Given the description of an element on the screen output the (x, y) to click on. 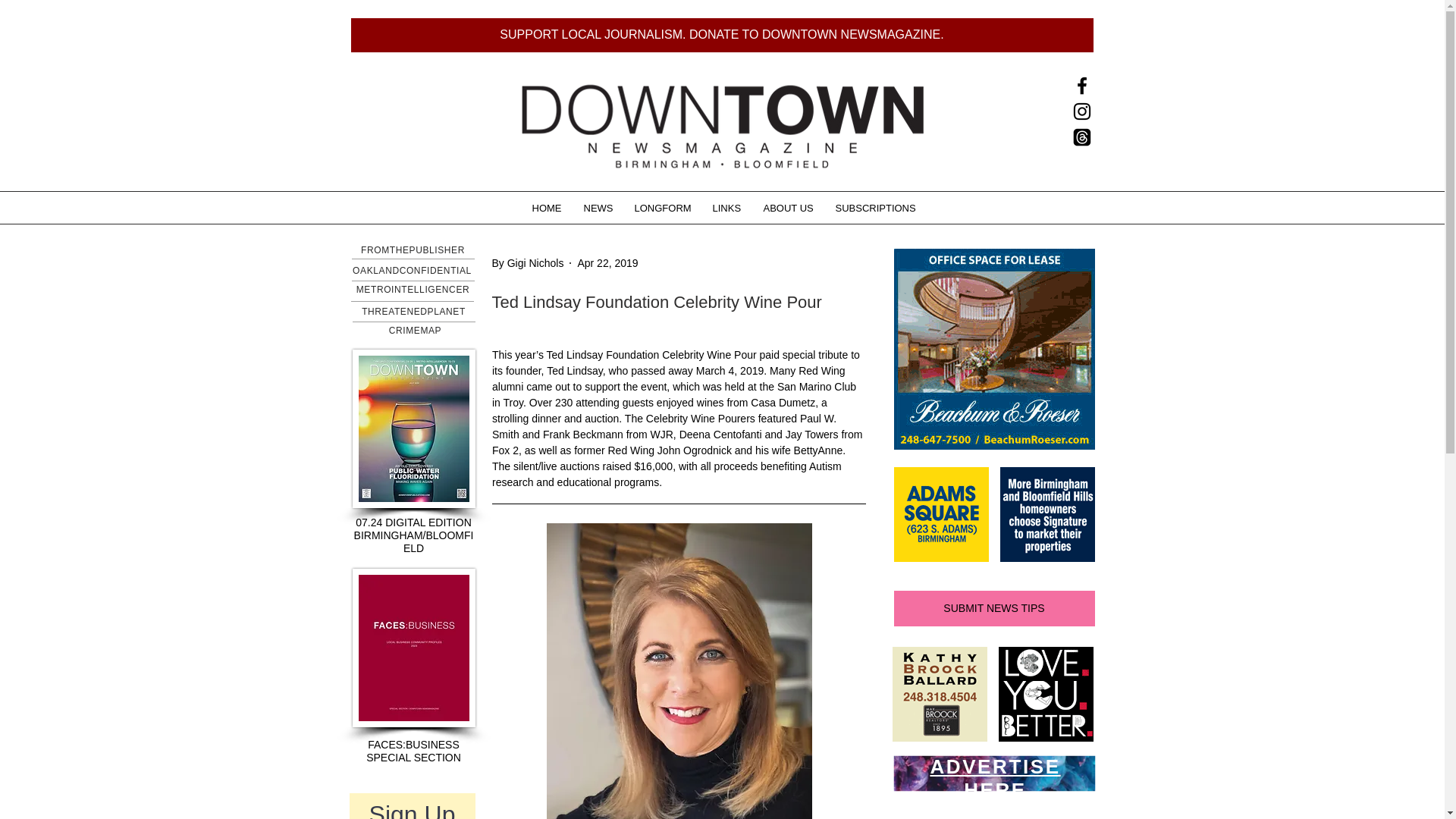
Apr 22, 2019 (606, 262)
By Gigi Nichols (527, 262)
SUPPORT LOCAL JOURNALISM. DONATE TO DOWNTOWN NEWSMAGAZINE. (721, 35)
LONGFORM (662, 208)
HOME (545, 208)
SUBSCRIPTIONS (873, 208)
